Given the description of an element on the screen output the (x, y) to click on. 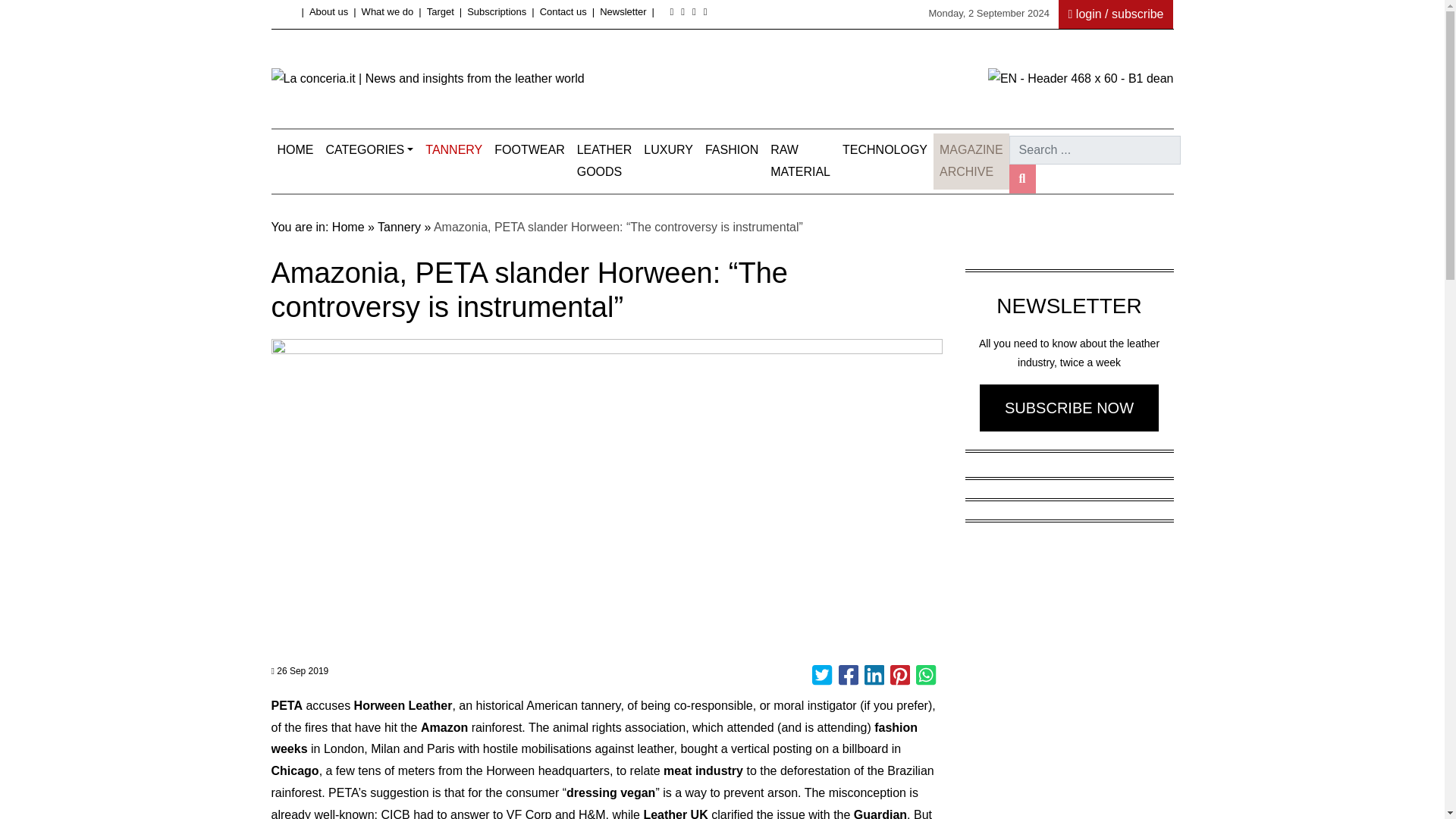
Target (440, 11)
Contact us (563, 11)
LEATHER GOODS (604, 161)
What we do (387, 11)
Luxury (667, 150)
TECHNOLOGY (884, 150)
Raw material (799, 161)
HOME (295, 150)
FASHION (731, 150)
Subscriptions (496, 11)
